Given the description of an element on the screen output the (x, y) to click on. 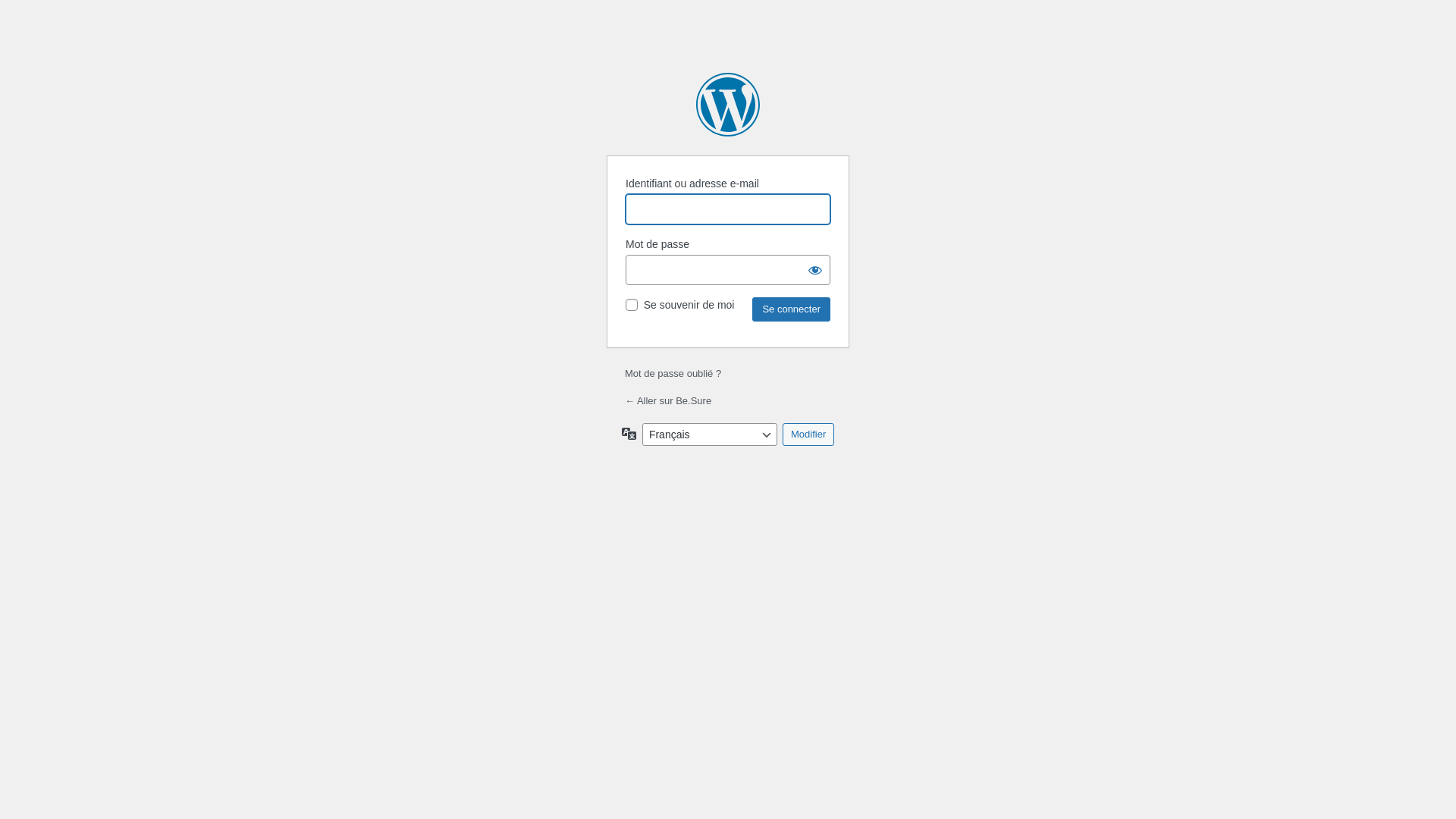
Se connecter Element type: text (791, 309)
Modifier Element type: text (808, 434)
